Given the description of an element on the screen output the (x, y) to click on. 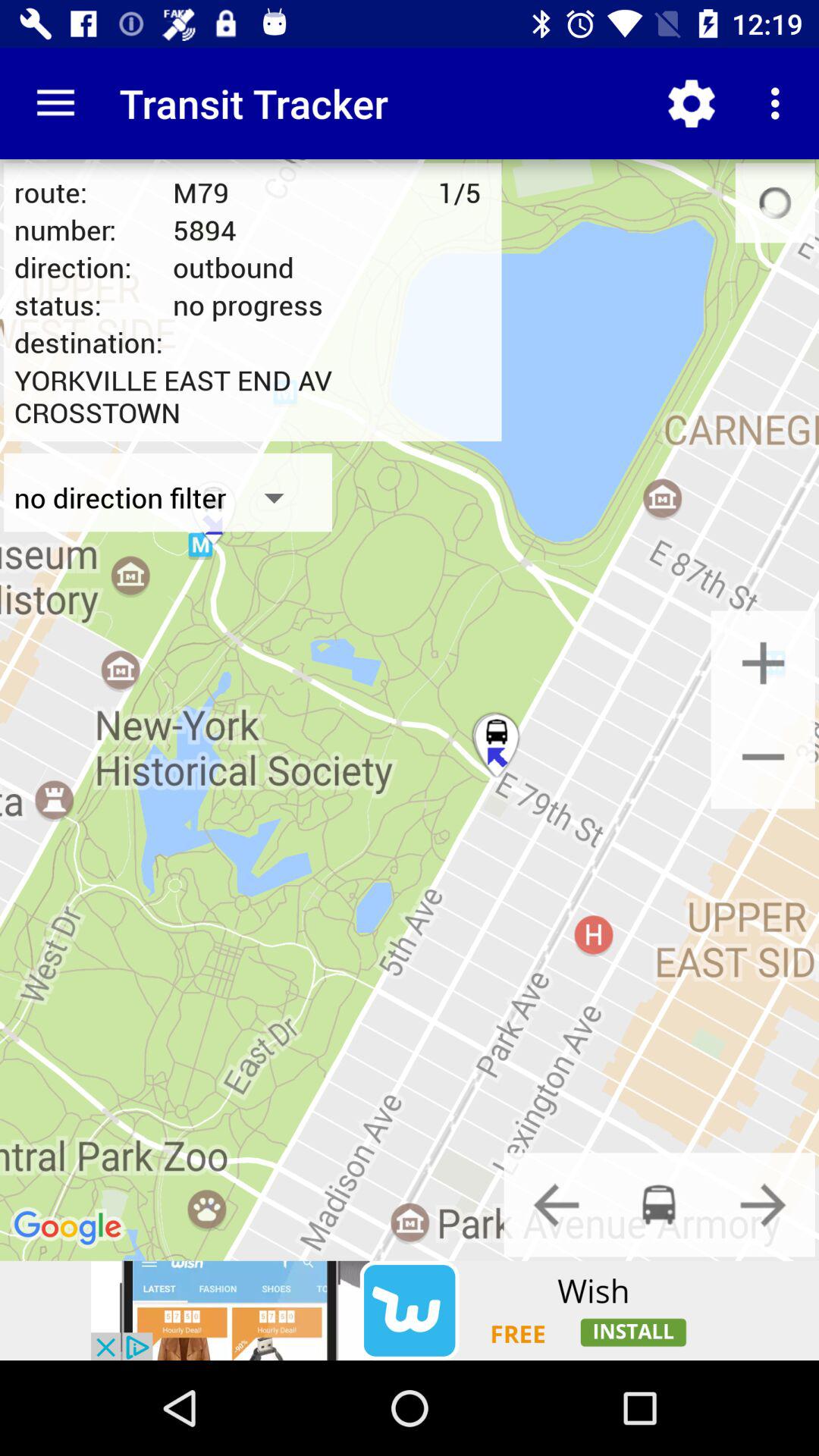
go to advertisements button (409, 1310)
